Given the description of an element on the screen output the (x, y) to click on. 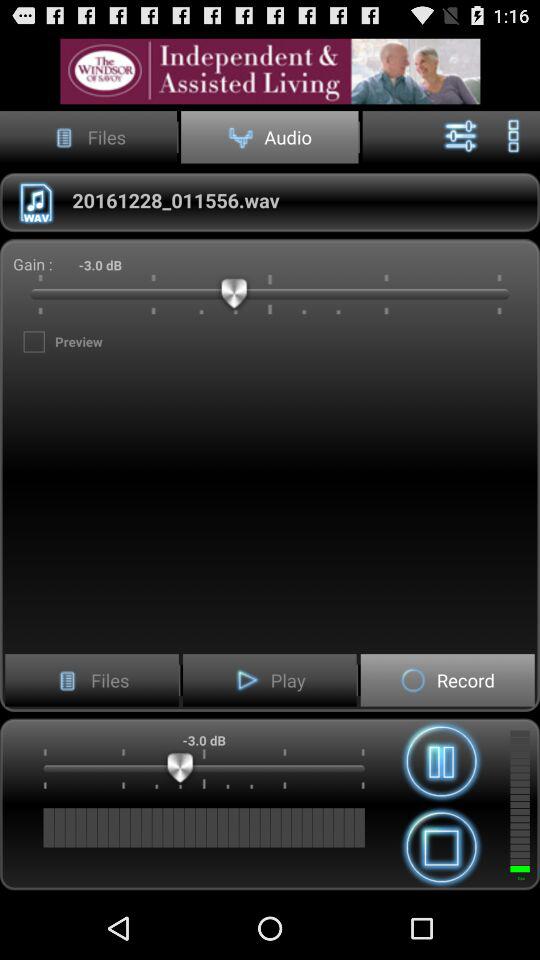
advertisement bar (270, 70)
